Given the description of an element on the screen output the (x, y) to click on. 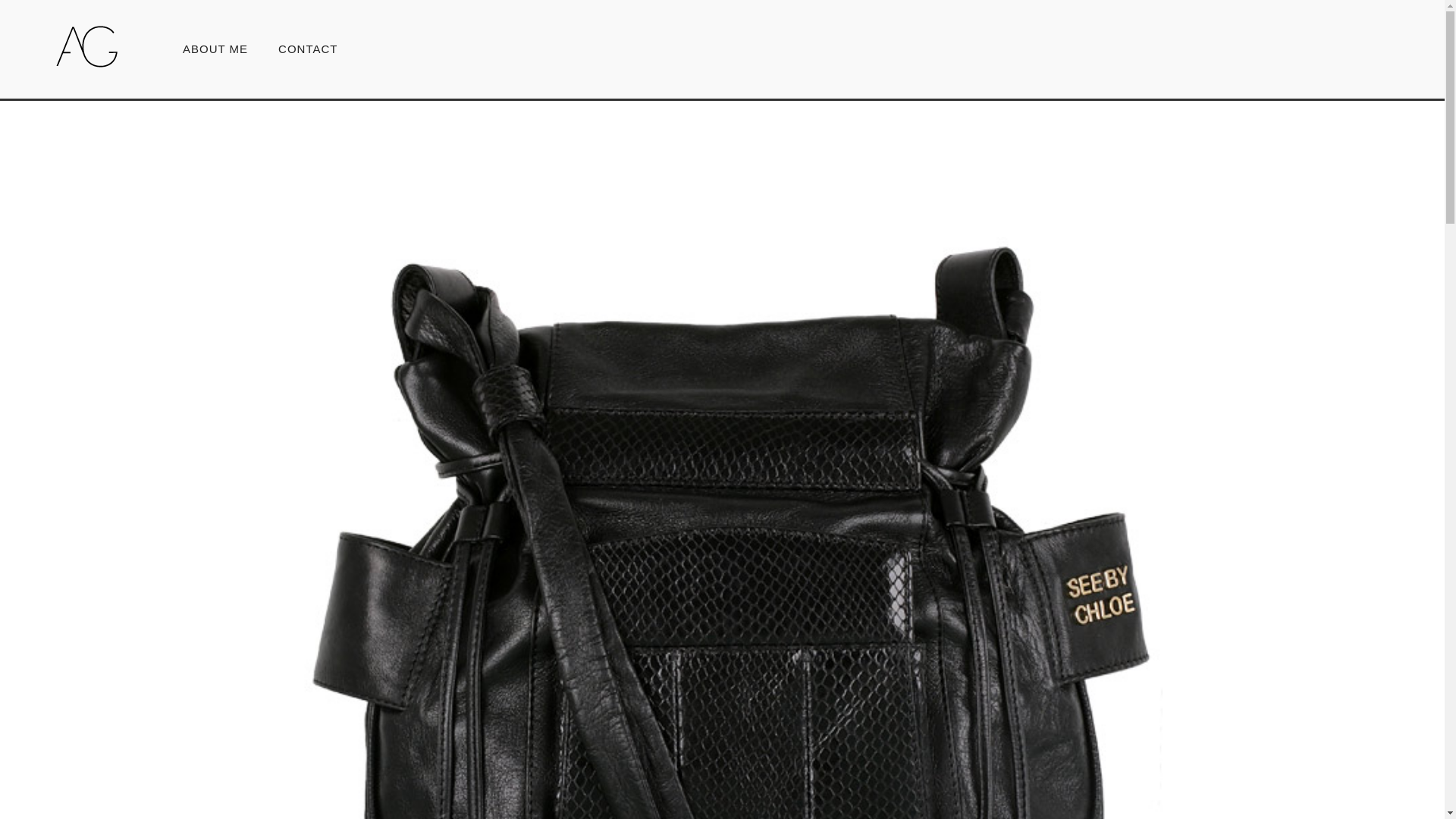
ABOUT ME (215, 48)
CONTACT (300, 48)
